Given the description of an element on the screen output the (x, y) to click on. 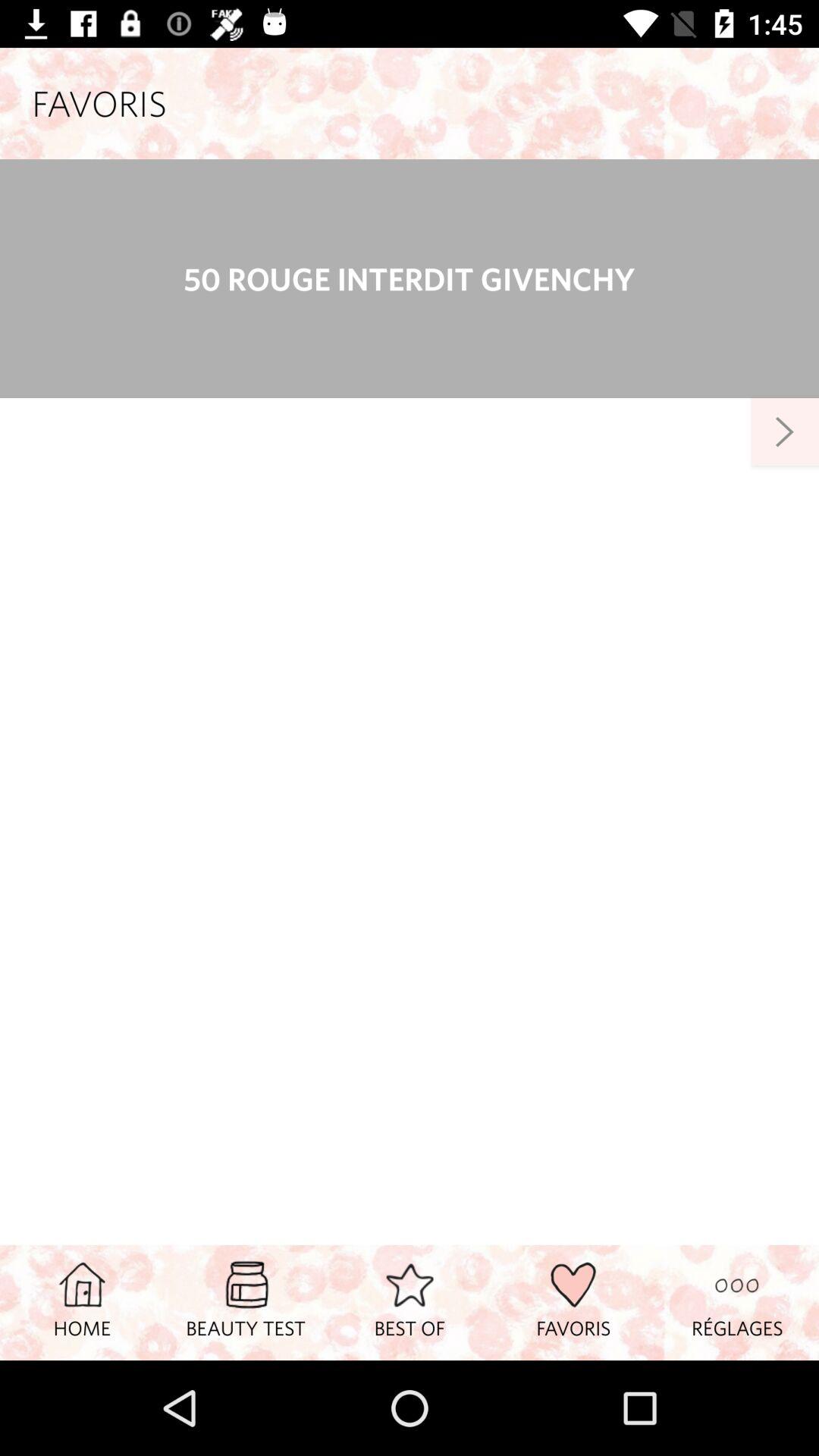
press the icon to the left of the favoris item (409, 1302)
